Given the description of an element on the screen output the (x, y) to click on. 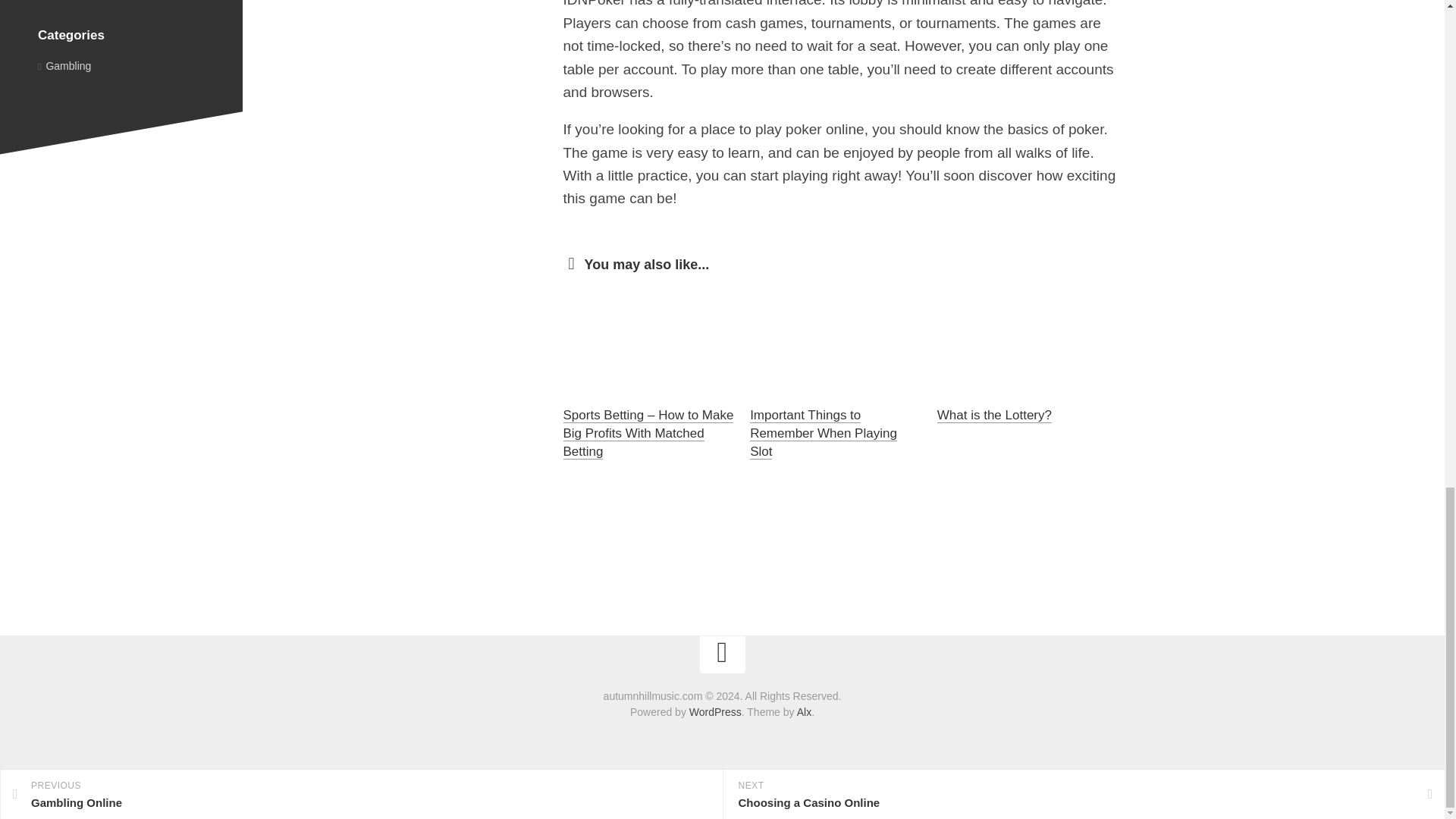
What is the Lottery? (994, 414)
Important Things to Remember When Playing Slot (822, 432)
